Given the description of an element on the screen output the (x, y) to click on. 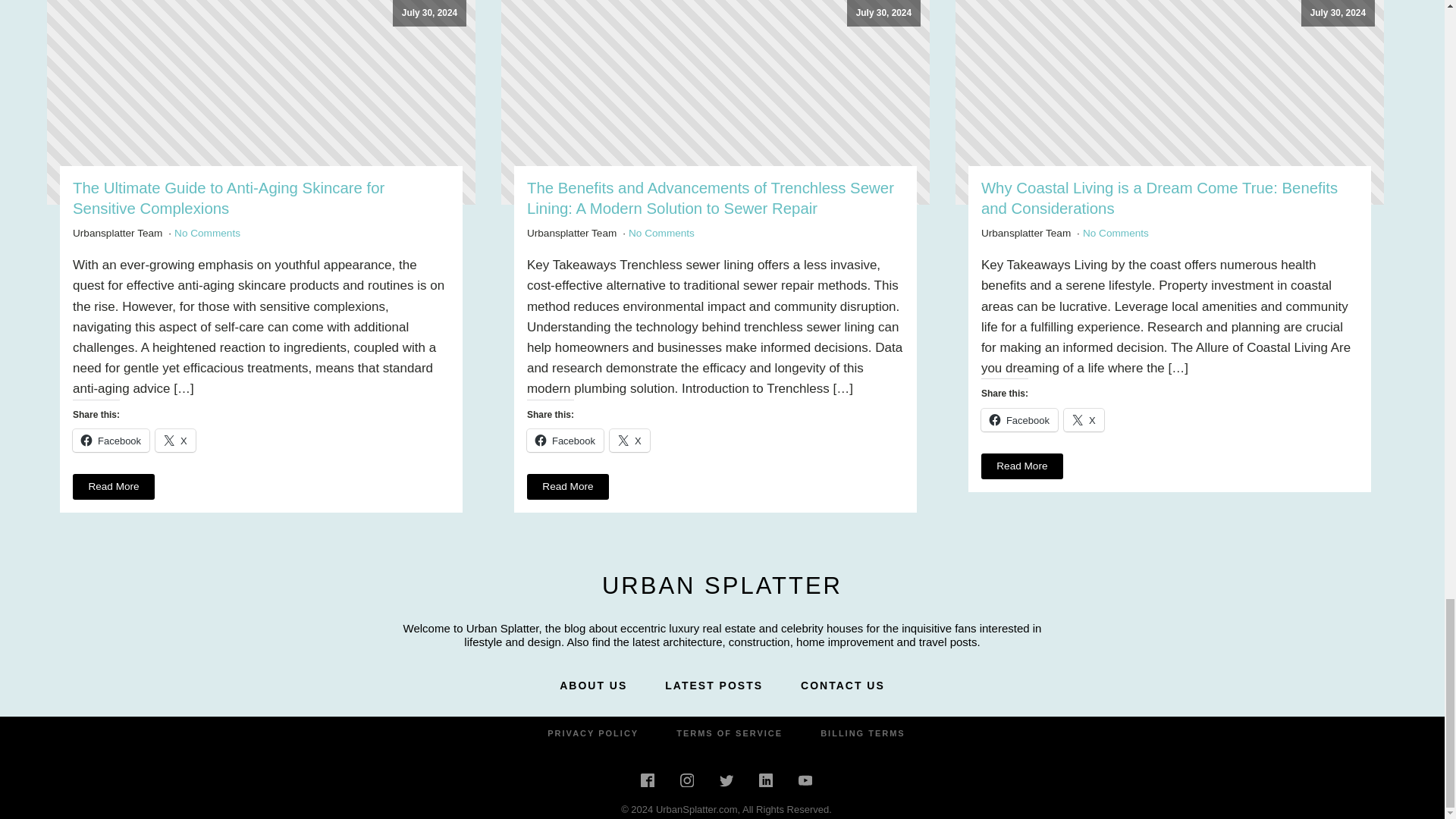
Click to share on X (629, 440)
Click to share on Facebook (1019, 419)
Click to share on Facebook (565, 440)
Click to share on X (1083, 419)
Click to share on X (175, 440)
Click to share on Facebook (110, 440)
